Given the description of an element on the screen output the (x, y) to click on. 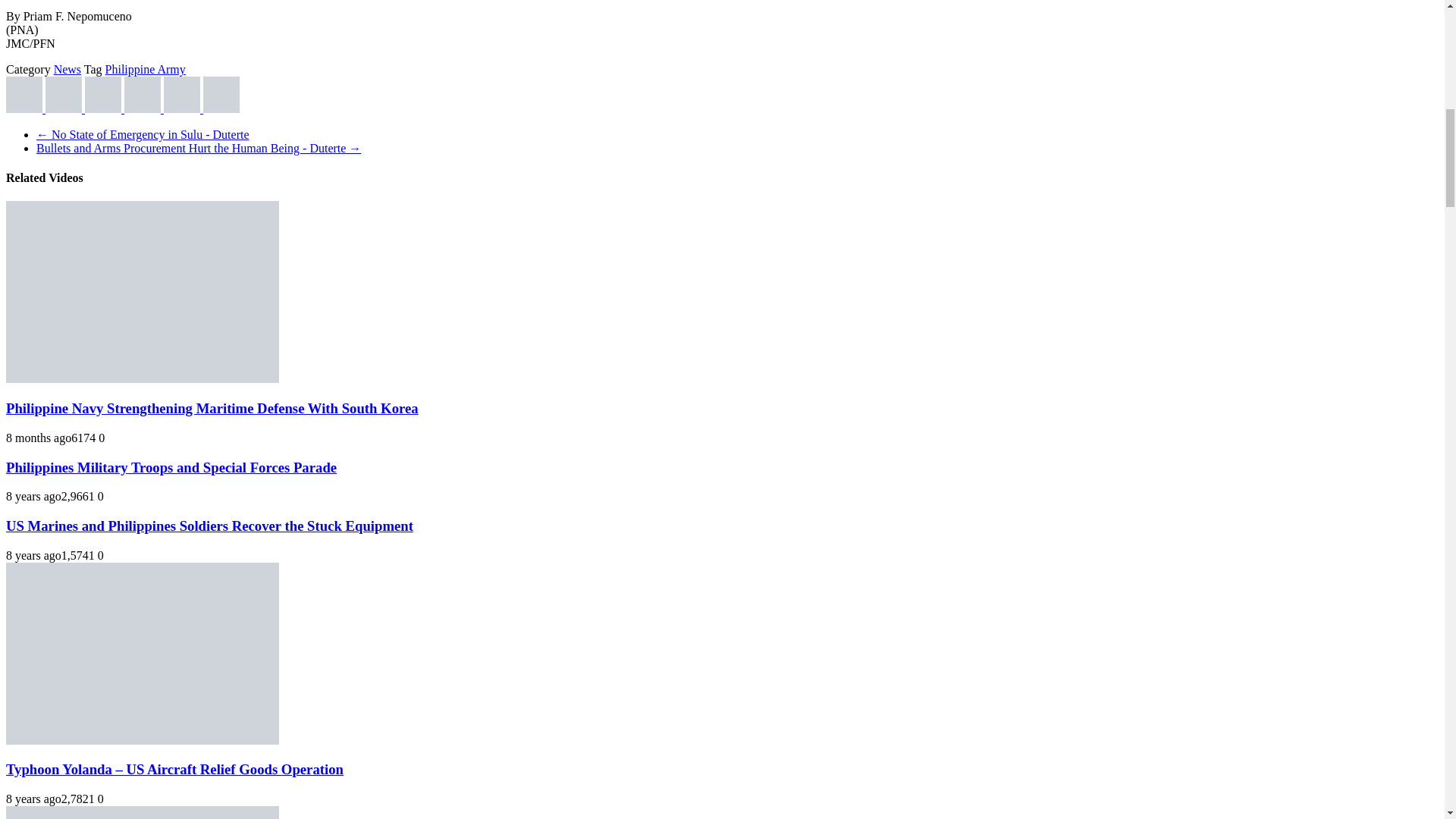
Philippine Army (145, 69)
News (67, 69)
Philippines Military Troops and Special Forces Parade (170, 467)
